Given the description of an element on the screen output the (x, y) to click on. 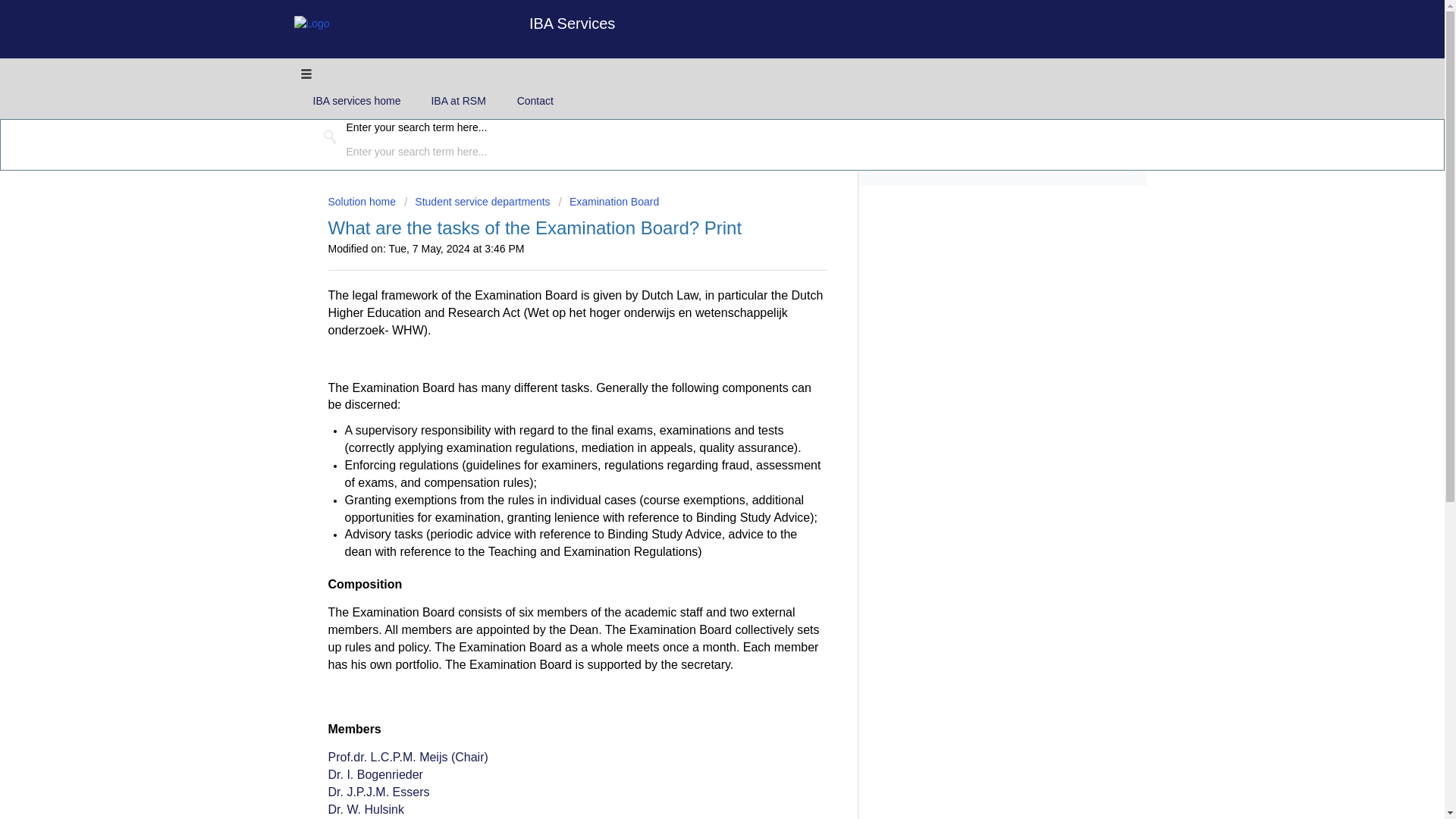
Student service departments (477, 201)
IBA at RSM (457, 100)
Examination Board (608, 201)
Solution home (362, 201)
Contact (534, 100)
Print (722, 227)
Print this Article (722, 227)
IBA services home (355, 100)
